Given the description of an element on the screen output the (x, y) to click on. 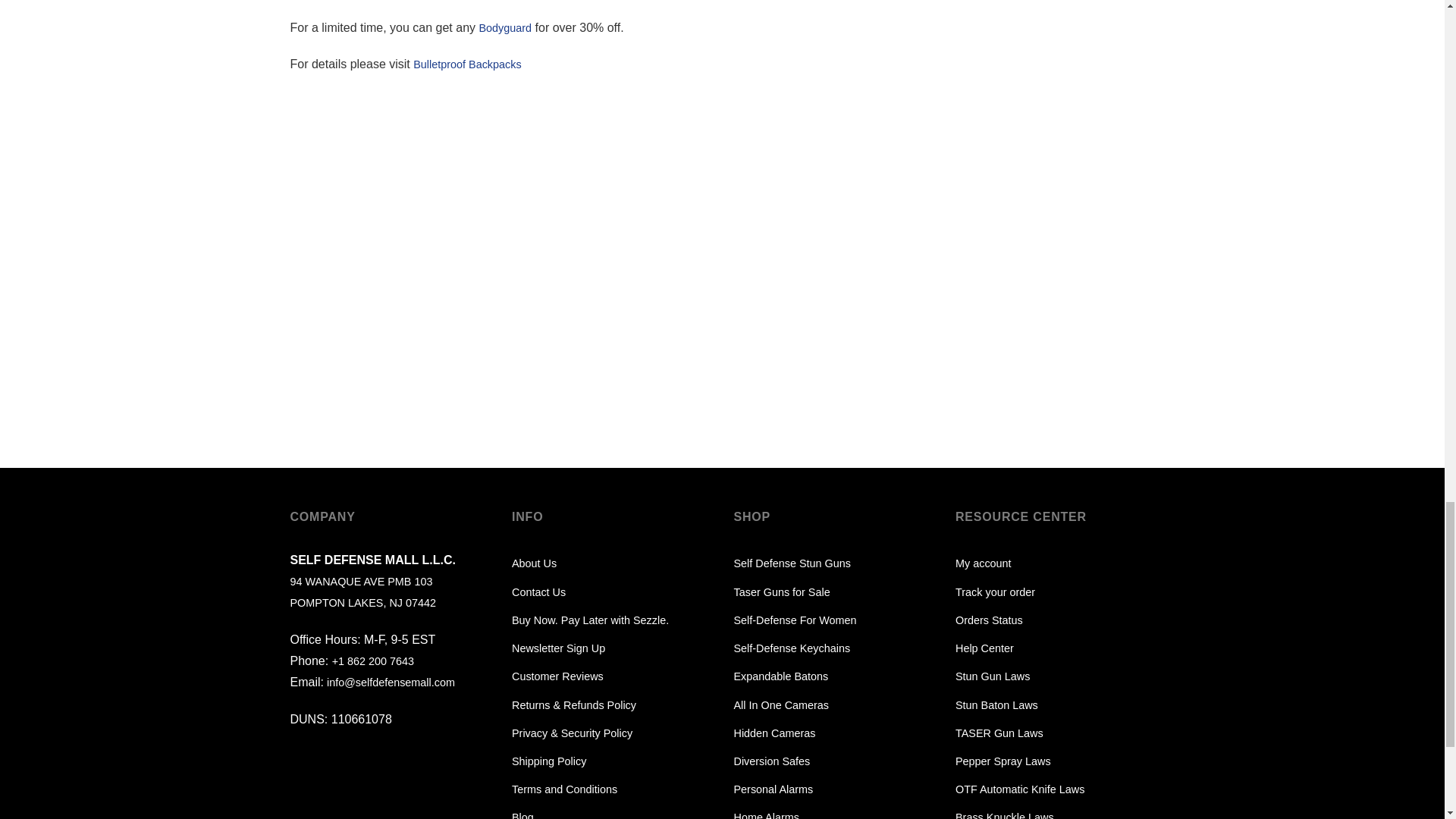
Blog (523, 811)
Contact Us (539, 592)
Bulletproof Backpacks (467, 64)
Customer Reviews (558, 676)
94 WANAQUE AVE PMB 103 POMPTON LAKES, NJ 07442 (362, 592)
Newsletter Sign Up (558, 648)
About Us (534, 563)
Shipping Policy (549, 761)
Bodyguard (505, 28)
Terms and Conditions (564, 789)
